Given the description of an element on the screen output the (x, y) to click on. 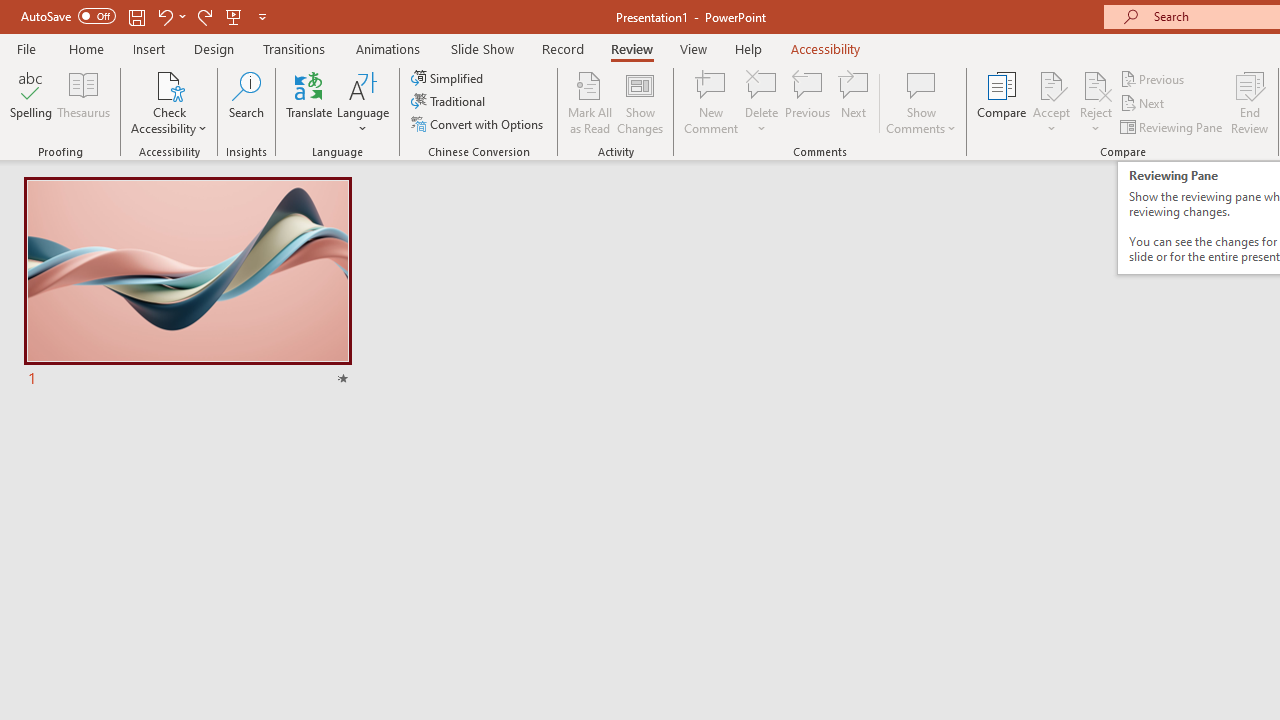
Accept Change (1051, 84)
Language (363, 102)
